Given the description of an element on the screen output the (x, y) to click on. 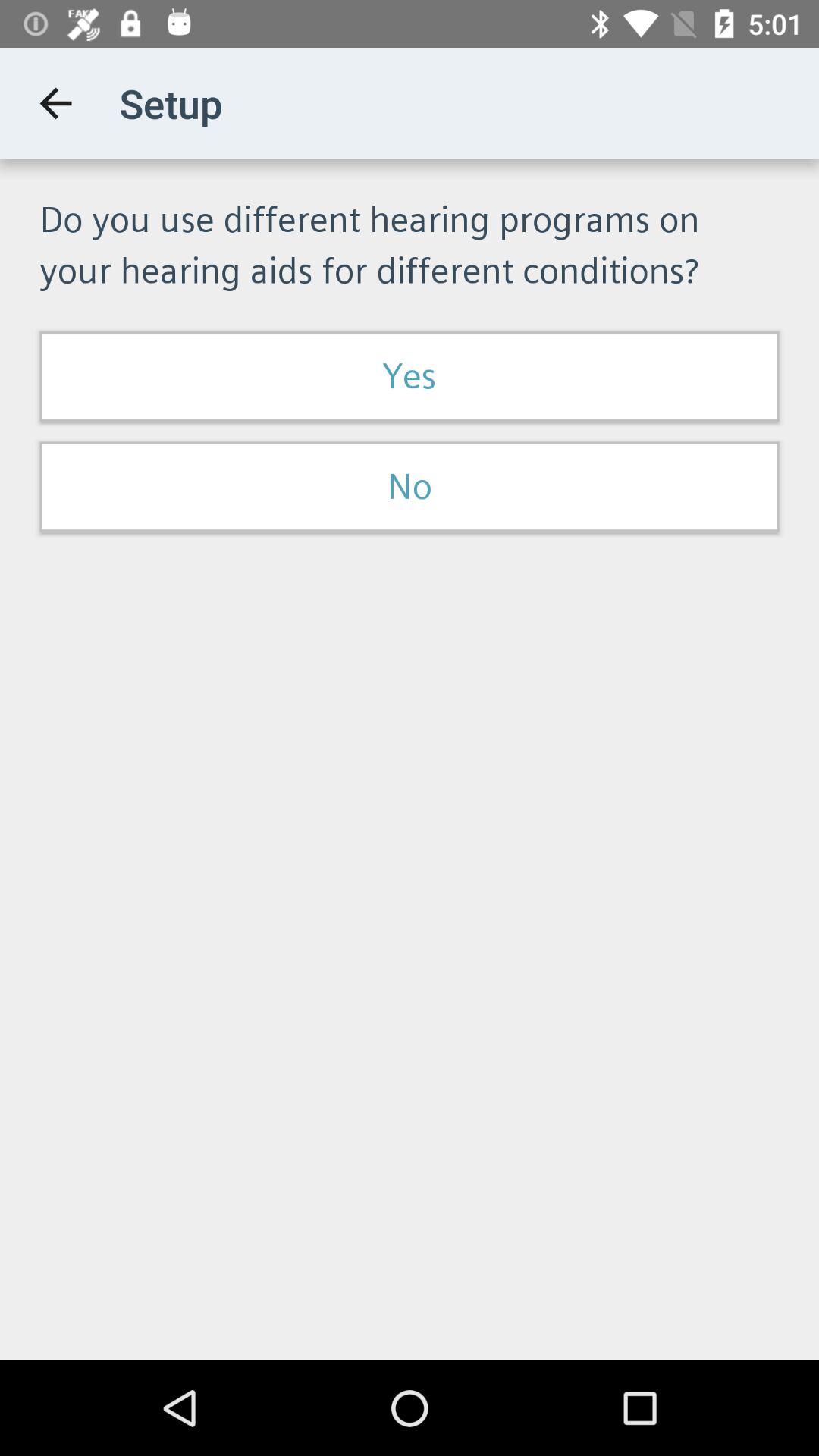
launch the icon at the center (409, 486)
